Given the description of an element on the screen output the (x, y) to click on. 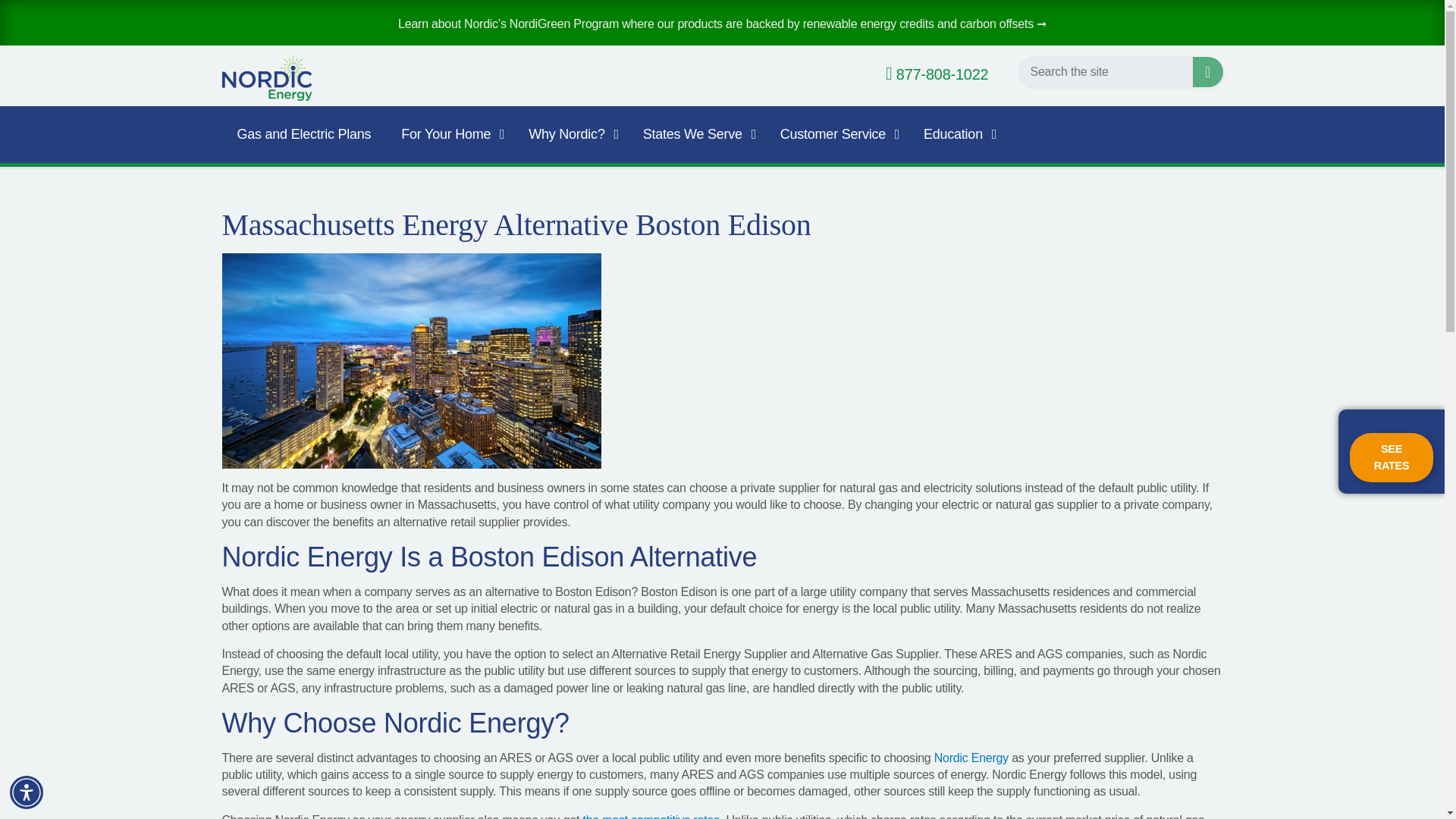
Accessibility Menu (26, 792)
For Your Home (449, 134)
877-808-1022 (936, 74)
Why Nordic? (570, 134)
States We Serve (696, 134)
Gas and Electric Plans (303, 134)
Skip to main content (721, 14)
